Given the description of an element on the screen output the (x, y) to click on. 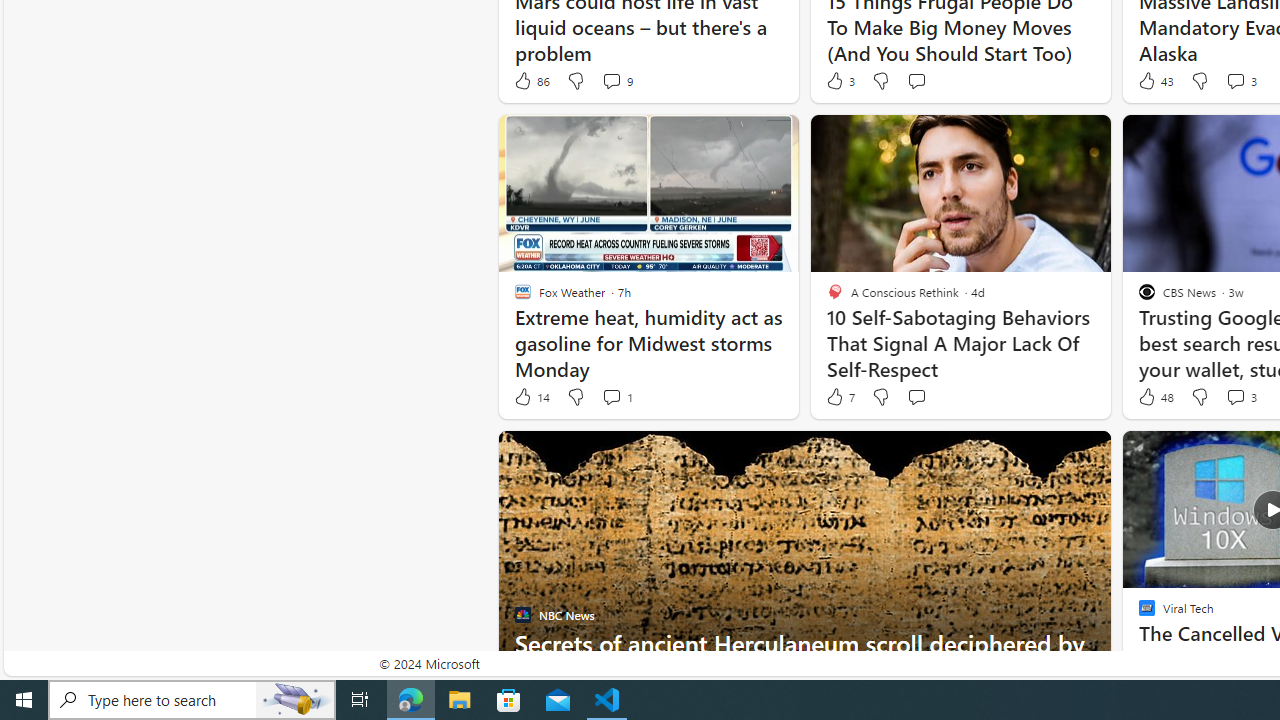
View comments 3 Comment (1234, 396)
View comments 9 Comment (616, 80)
3 Like (839, 80)
